Given the description of an element on the screen output the (x, y) to click on. 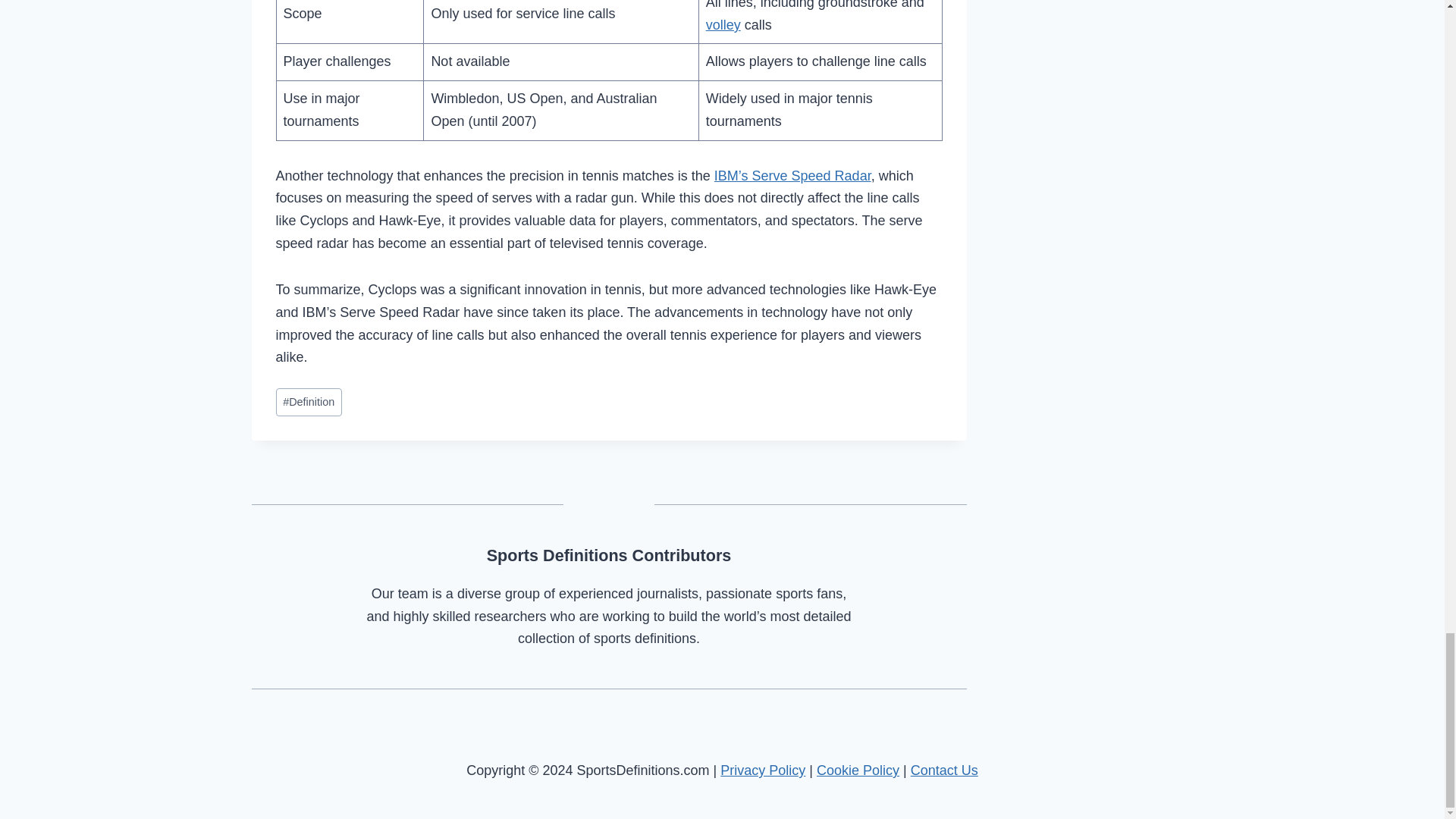
Posts by Sports Definitions Contributors (609, 555)
Definition (309, 402)
